Given the description of an element on the screen output the (x, y) to click on. 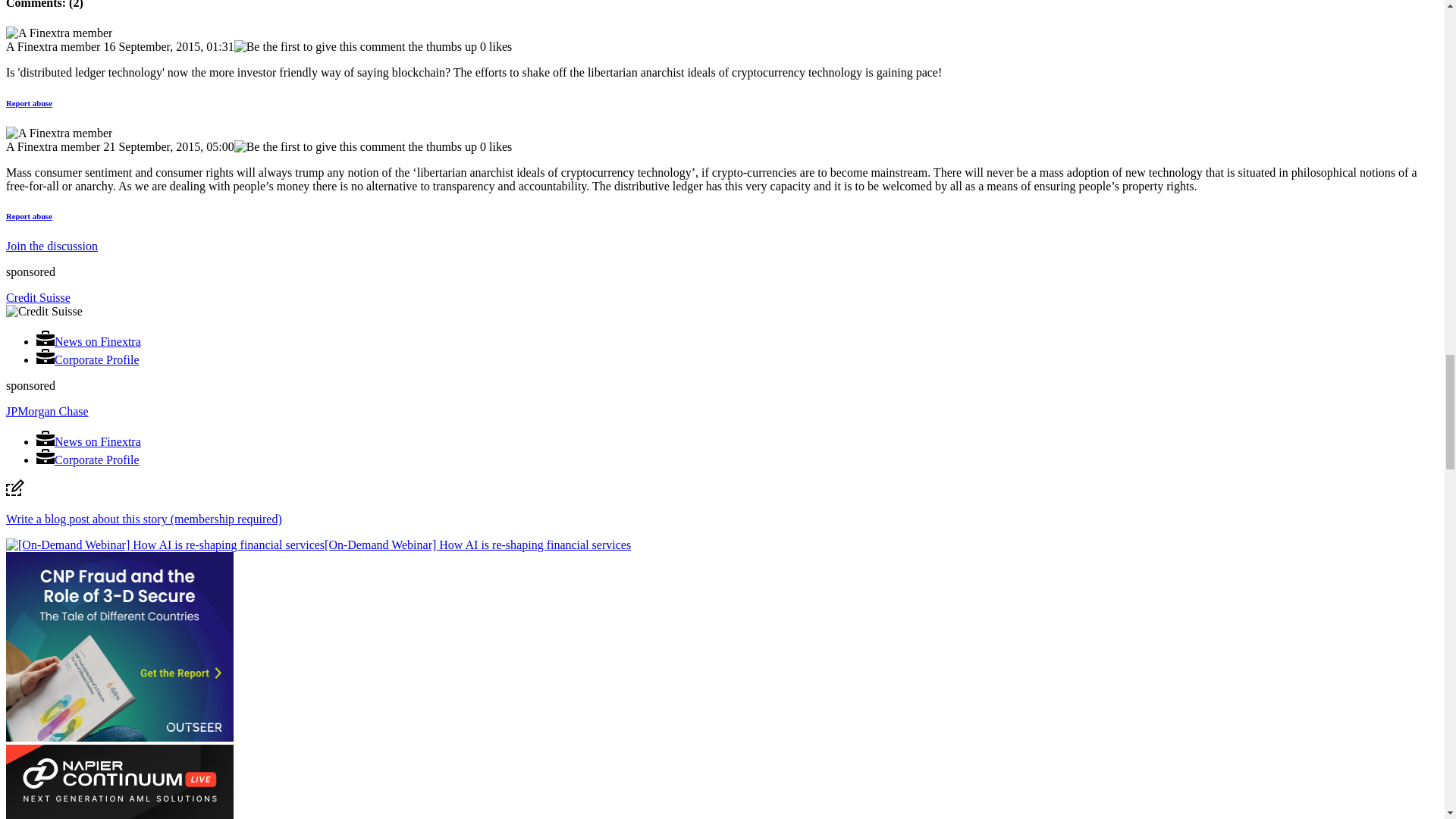
Be the first to give this comment the thumbs up (355, 146)
Be the first to give this comment the thumbs up (355, 47)
